Given the description of an element on the screen output the (x, y) to click on. 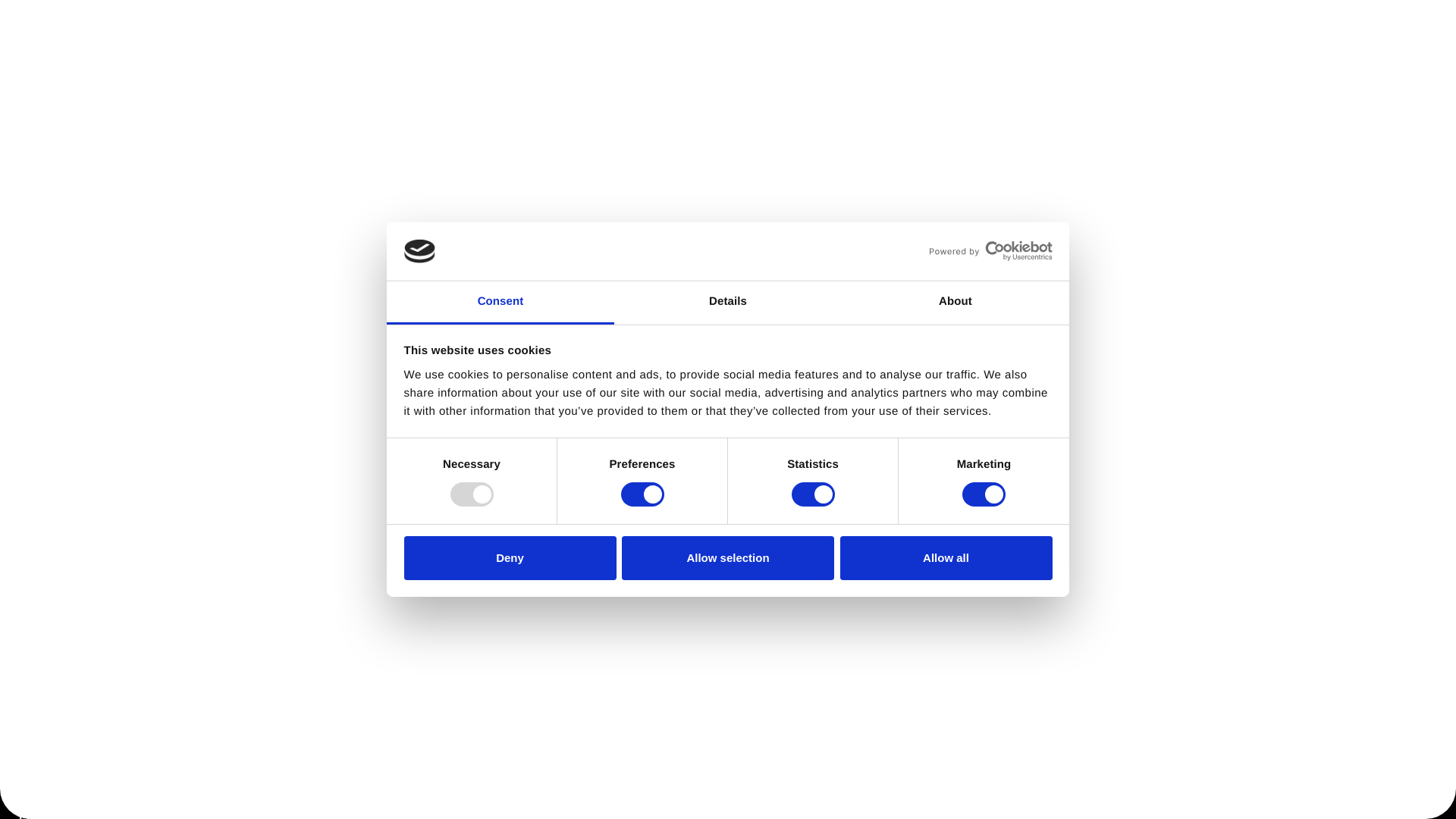
Allow selection (727, 557)
Details (727, 302)
Consent (500, 302)
Allow all (946, 557)
Deny (509, 557)
About (954, 302)
BCNpeptides (148, 43)
